Given the description of an element on the screen output the (x, y) to click on. 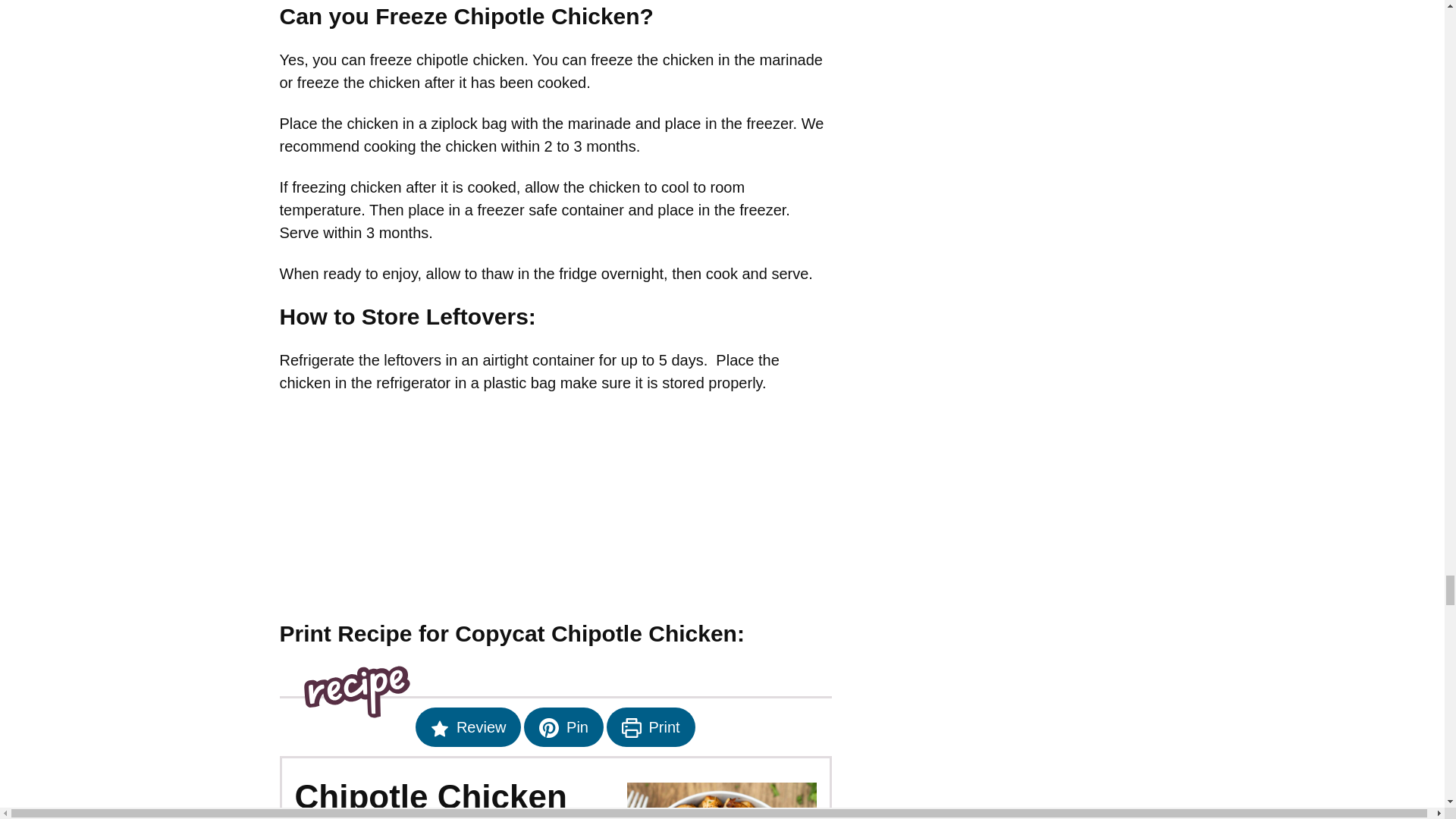
Pin (563, 726)
Print (651, 726)
Review (467, 726)
